Given the description of an element on the screen output the (x, y) to click on. 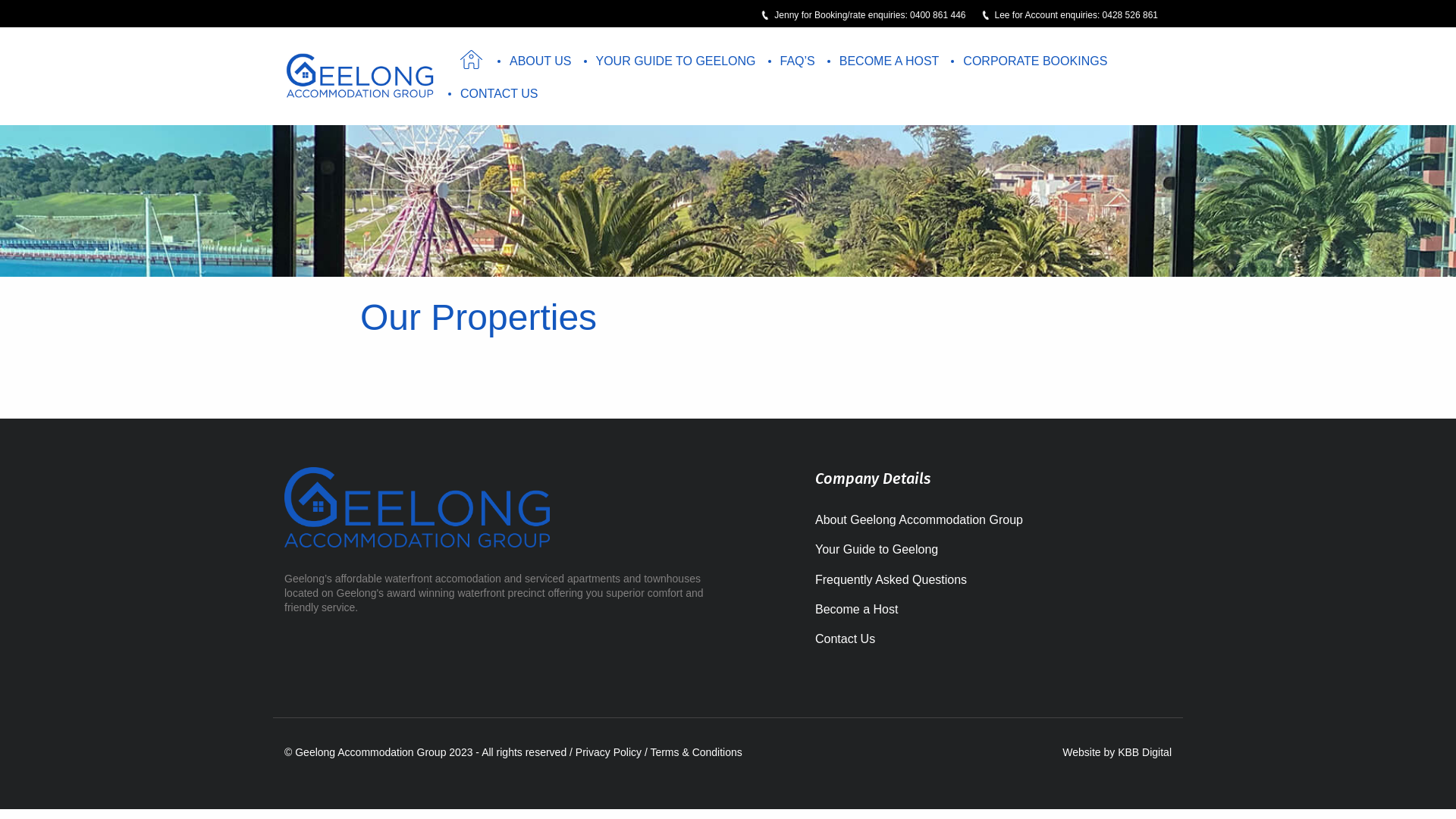
Privacy Policy Element type: text (608, 752)
ABOUT US Element type: text (540, 61)
CORPORATE BOOKINGS Element type: text (1034, 61)
BECOME A HOST Element type: text (889, 61)
KBB Digital Element type: text (1144, 752)
Your Guide to Geelong Element type: text (993, 549)
Contact Us Element type: text (993, 638)
CONTACT US Element type: text (499, 93)
Terms & Conditions Element type: text (695, 752)
YOUR GUIDE TO GEELONG Element type: text (675, 61)
0400 861 446 Element type: text (937, 14)
Frequently Asked Questions Element type: text (993, 578)
About Geelong Accommodation Group Element type: text (993, 519)
Become a Host Element type: text (993, 609)
0428 526 861 Element type: text (1129, 14)
